Given the description of an element on the screen output the (x, y) to click on. 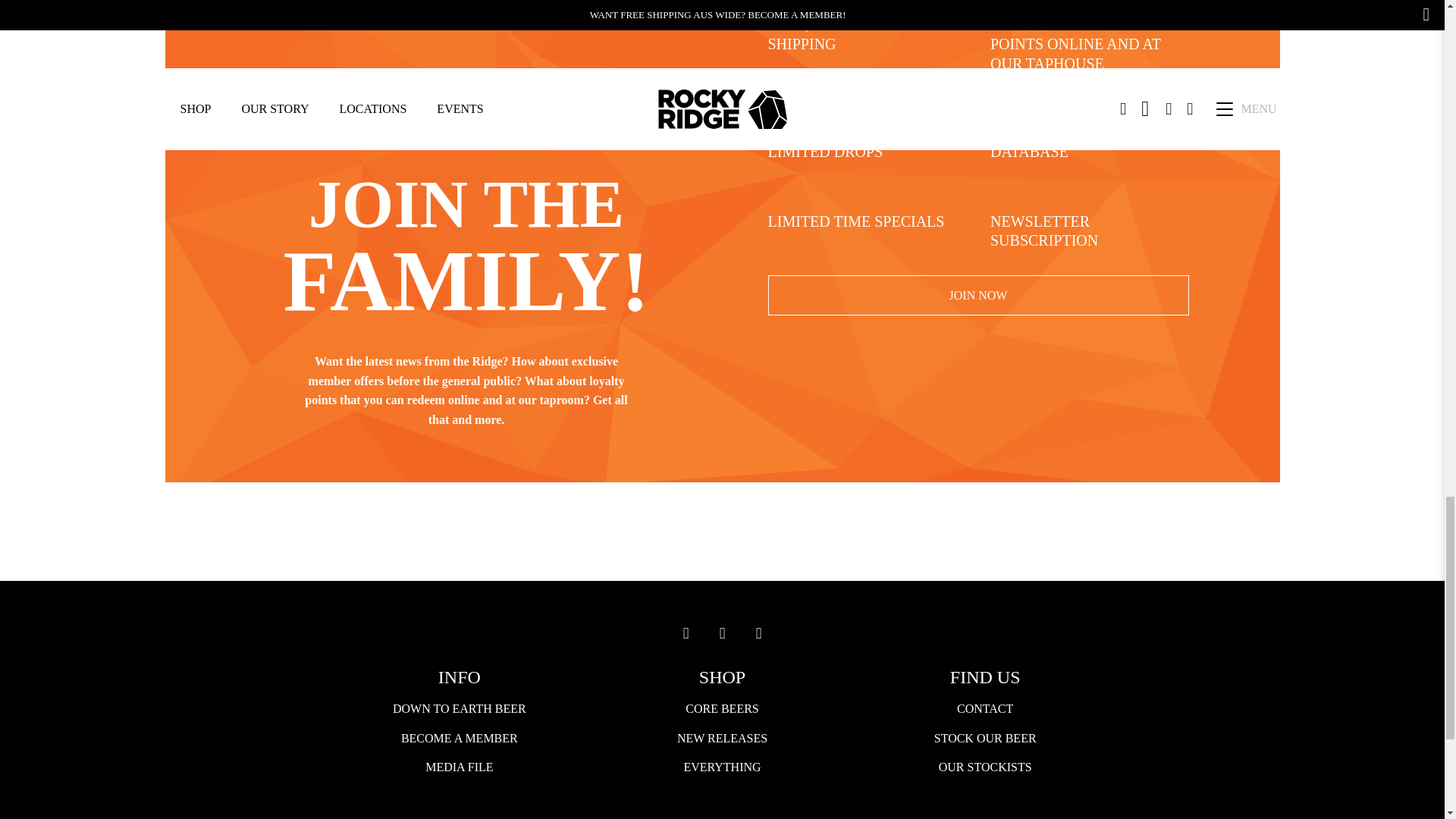
instagram (684, 633)
facebook (721, 633)
twitter (757, 633)
